Given the description of an element on the screen output the (x, y) to click on. 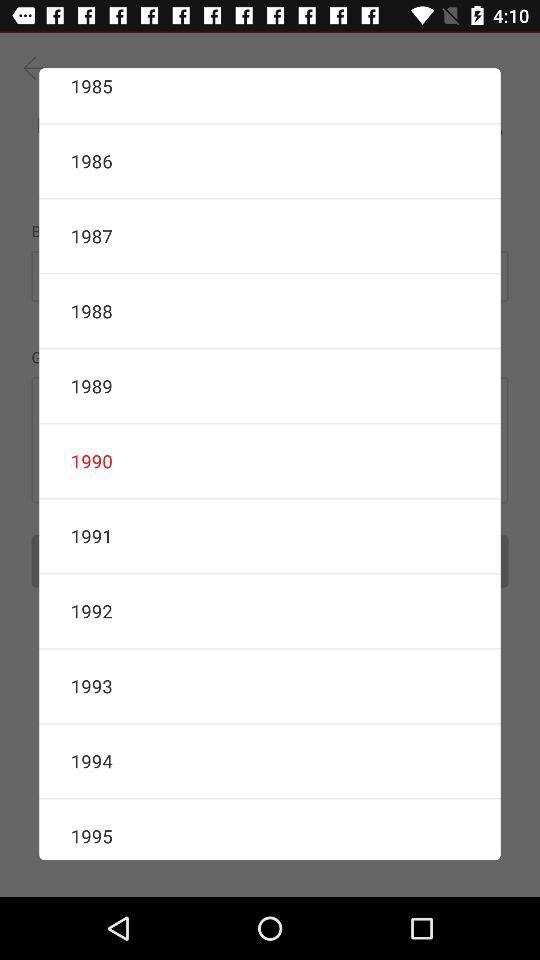
turn off 1987 icon (269, 236)
